Given the description of an element on the screen output the (x, y) to click on. 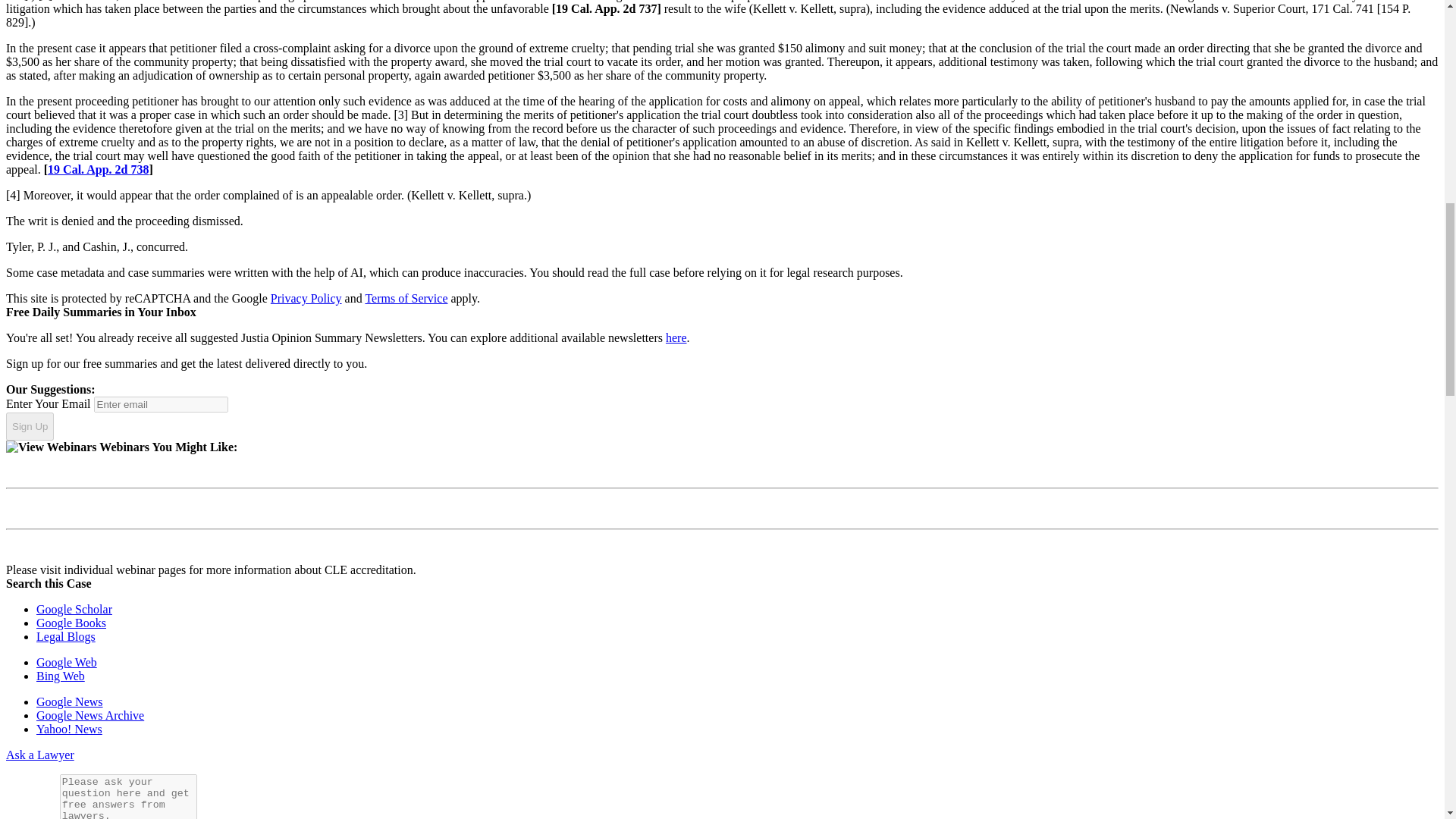
Law - Google Web (66, 662)
Law - Google News (69, 701)
Terms of Service (405, 297)
Law - Google News Archive (90, 715)
Law - Google Books (71, 622)
Law - Google Scholar (74, 608)
here (676, 337)
Law - Yahoo! News (68, 728)
Law - Legal Blogs (66, 635)
19 Cal. App. 2d 738 (98, 169)
Sign Up (29, 426)
Google Scholar (74, 608)
Enter email (161, 404)
Law - Bing Web (60, 675)
